Given the description of an element on the screen output the (x, y) to click on. 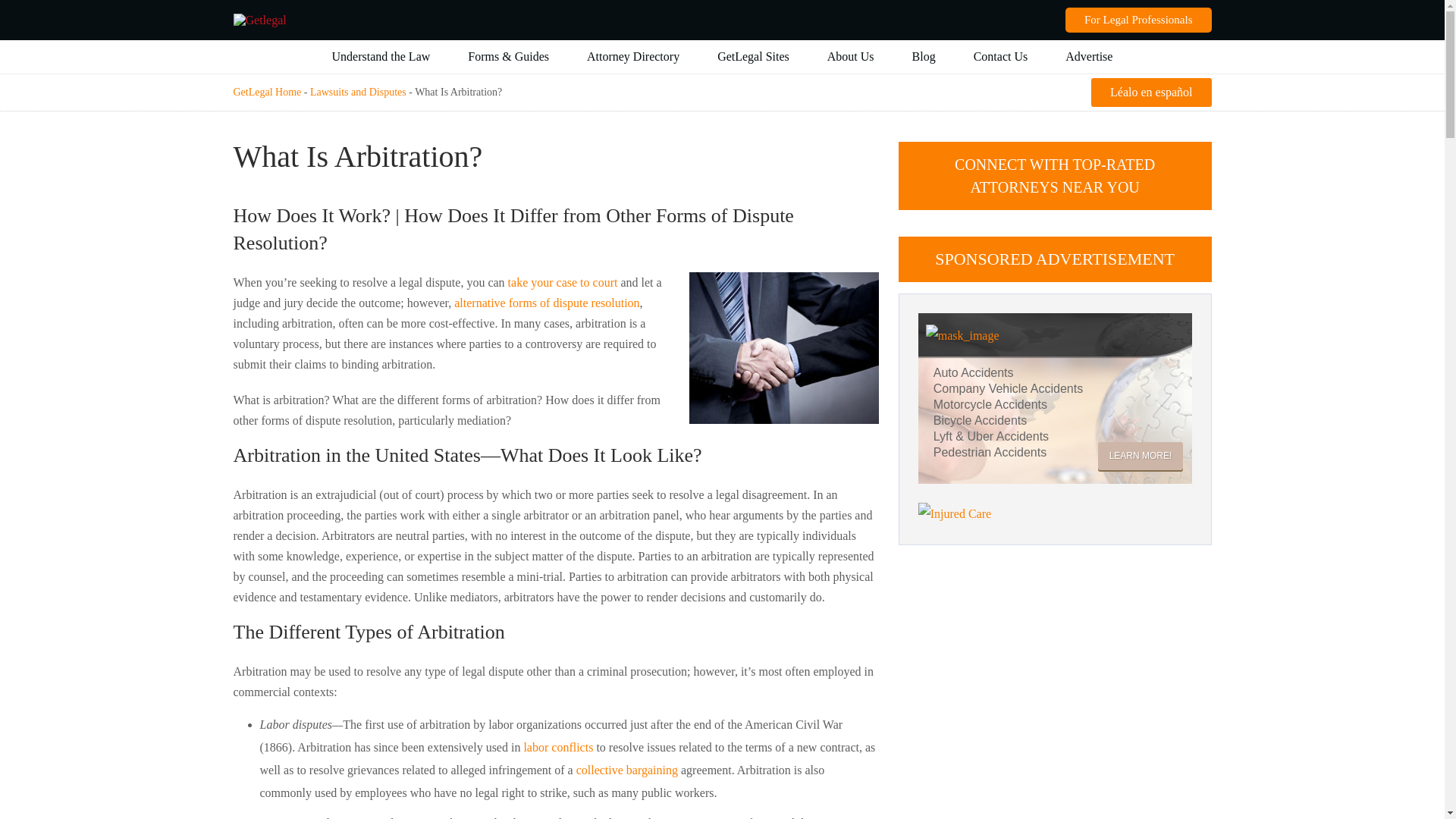
GetLegal Home (266, 91)
About Us (851, 56)
About Us (851, 56)
Contact Us (1000, 56)
Attorney Directory (632, 56)
GetLegal Sites (753, 56)
Getlegal (259, 19)
Advertise (1088, 56)
Understand the Law (380, 56)
GetLegal Sites (753, 56)
